Given the description of an element on the screen output the (x, y) to click on. 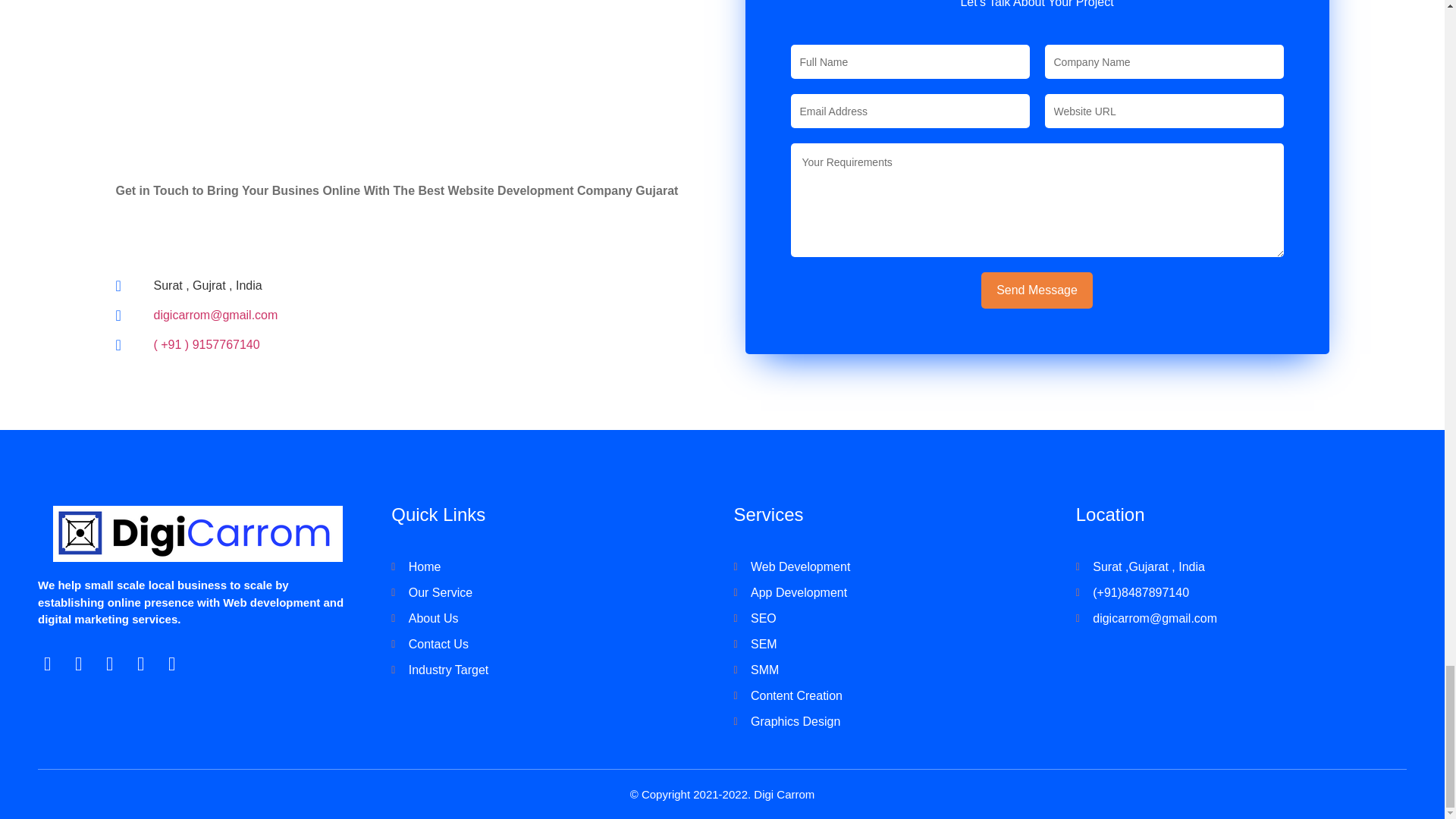
Home (550, 566)
Our Service (550, 592)
Send Message (1037, 289)
